Given the description of an element on the screen output the (x, y) to click on. 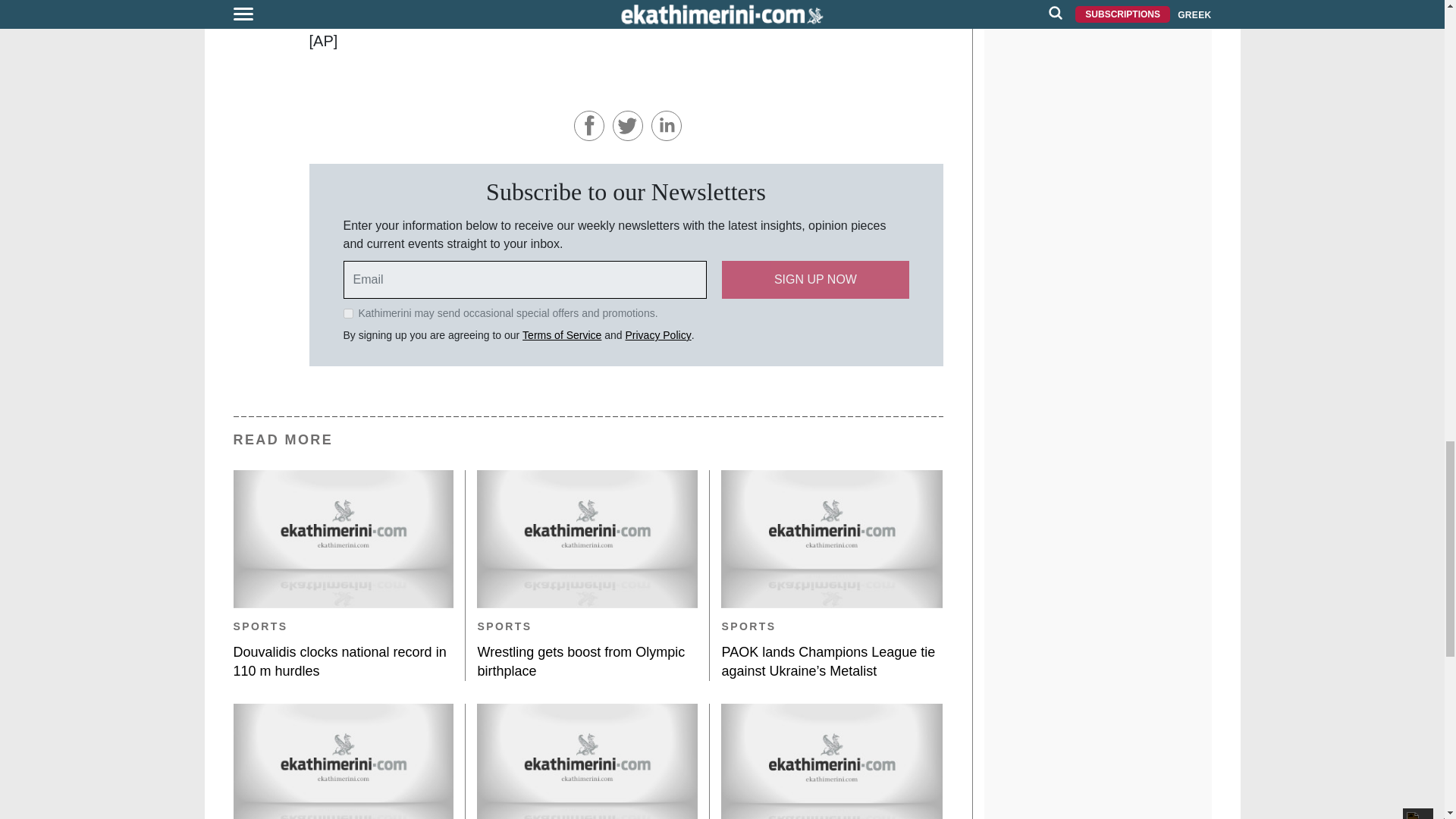
on (347, 313)
